Given the description of an element on the screen output the (x, y) to click on. 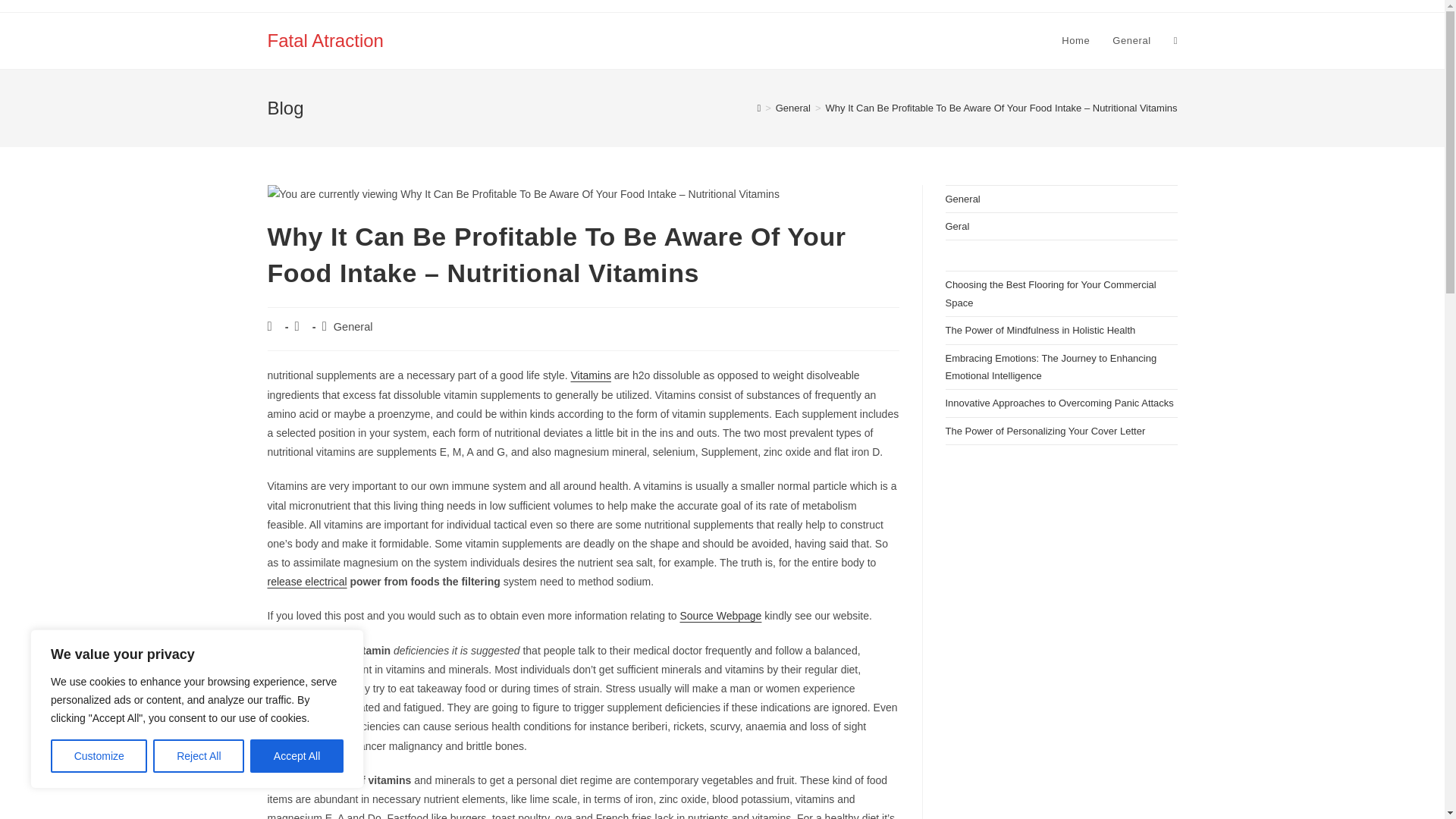
General (1130, 40)
General (352, 326)
Fatal Atraction (324, 40)
Home (1074, 40)
Accept All (296, 756)
Vitamins (590, 375)
Customize (98, 756)
General (793, 107)
Source Webpage (720, 615)
release electrical (306, 581)
Reject All (198, 756)
